Given the description of an element on the screen output the (x, y) to click on. 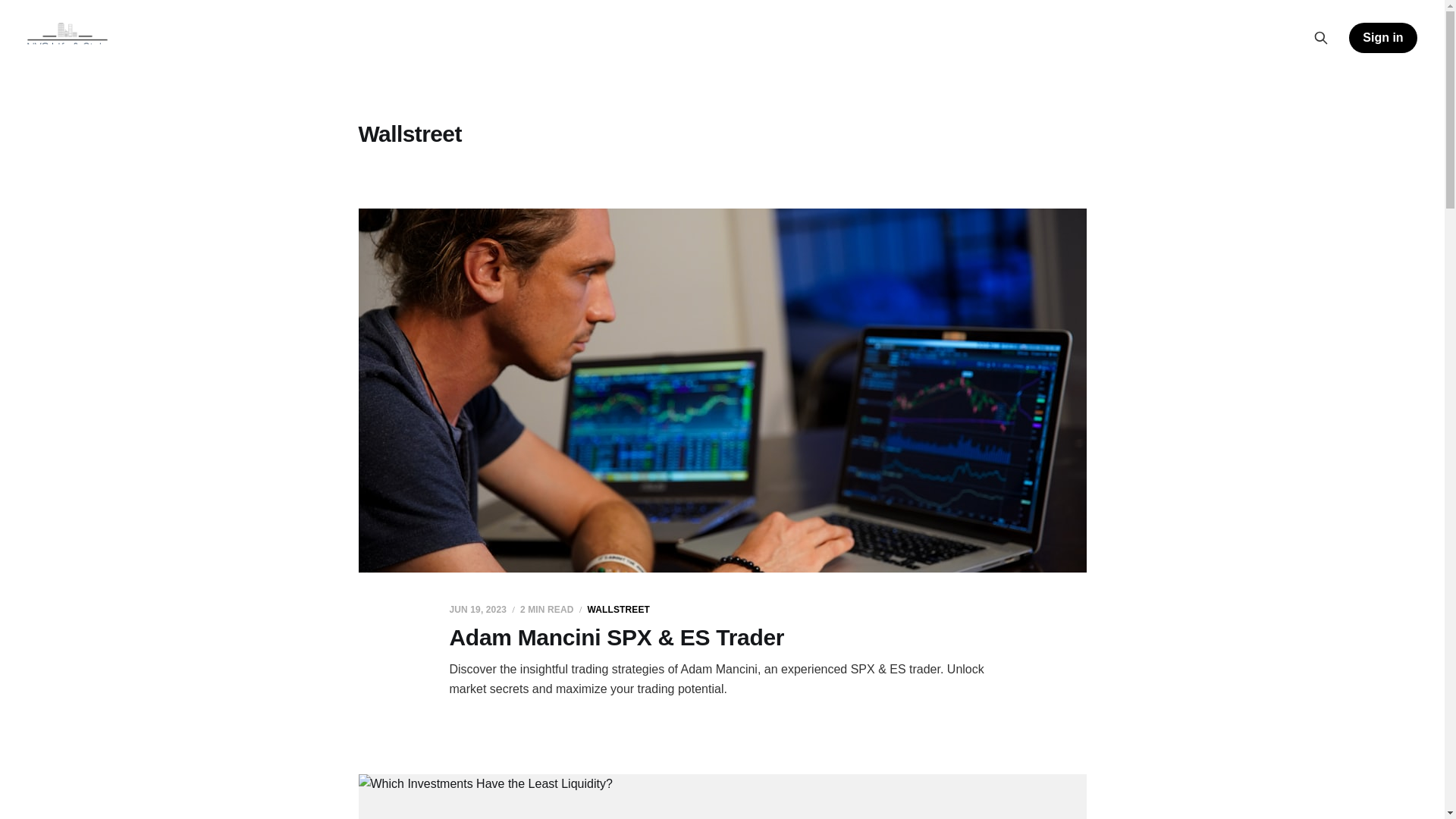
Wallstreet (617, 608)
WALLSTREET (617, 608)
Sign in (1382, 37)
